Given the description of an element on the screen output the (x, y) to click on. 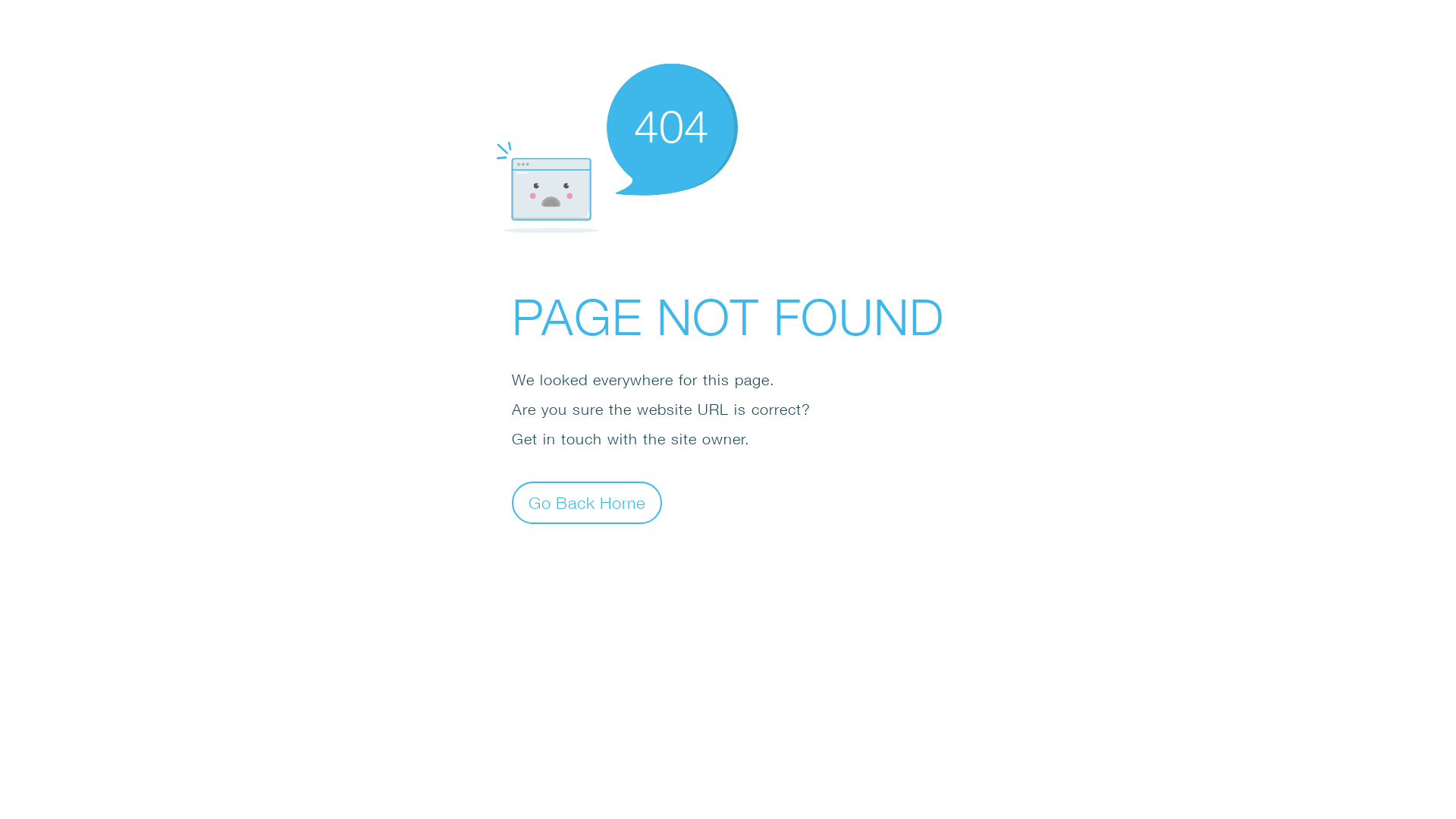
Go Back Home Element type: text (586, 502)
